Given the description of an element on the screen output the (x, y) to click on. 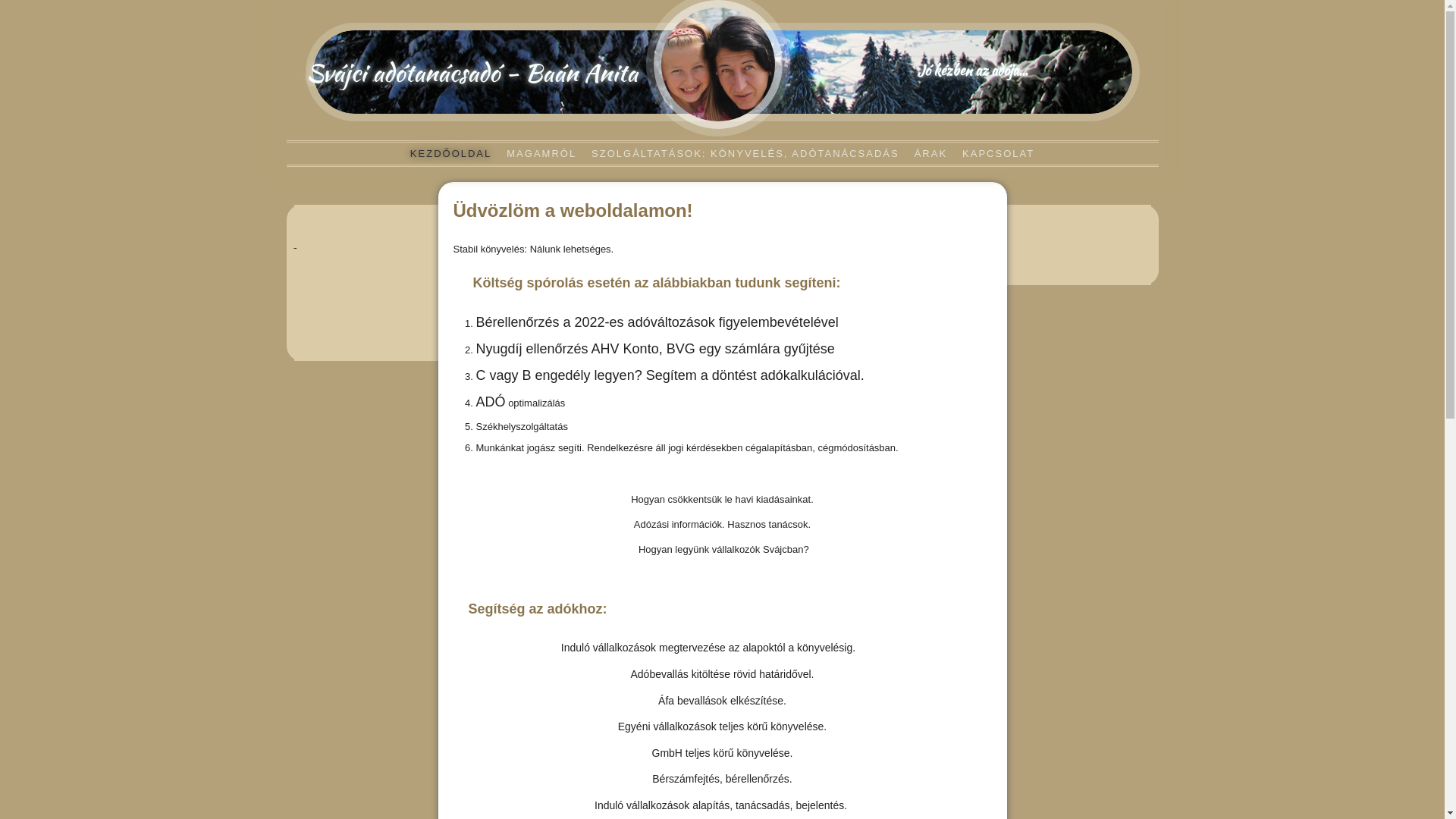
KAPCSOLAT Element type: text (998, 153)
  Element type: text (295, 243)
